Given the description of an element on the screen output the (x, y) to click on. 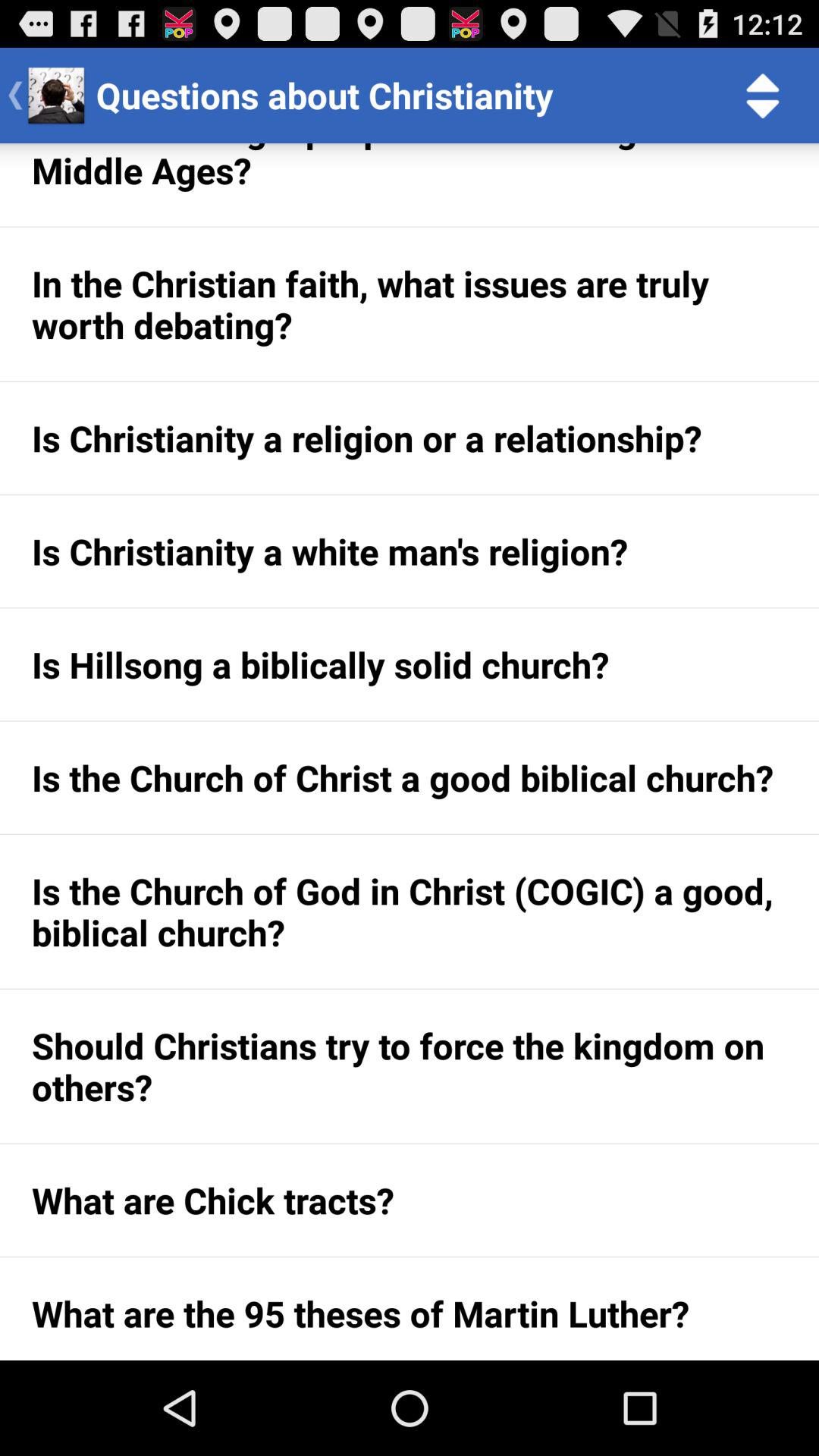
scroll to the how was the item (409, 184)
